Given the description of an element on the screen output the (x, y) to click on. 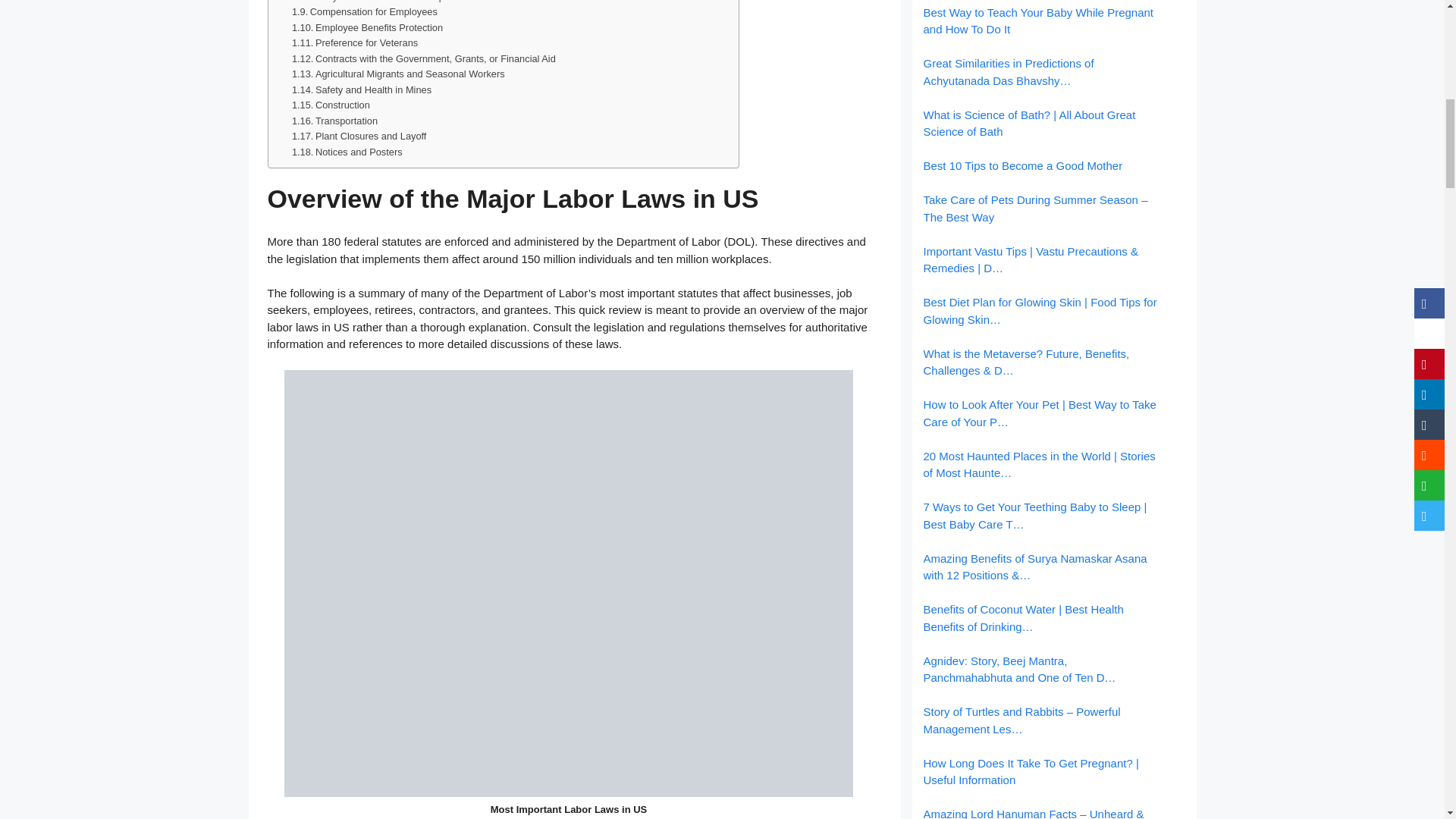
Agricultural Migrants and Seasonal Workers (398, 74)
Preference for Veterans (354, 43)
Safety and Health in the Workplace (377, 2)
Contracts with the Government, Grants, or Financial Aid (424, 59)
Compensation for Employees (365, 12)
Employee Benefits Protection (367, 28)
Safety and Health in Mines (361, 90)
